Given the description of an element on the screen output the (x, y) to click on. 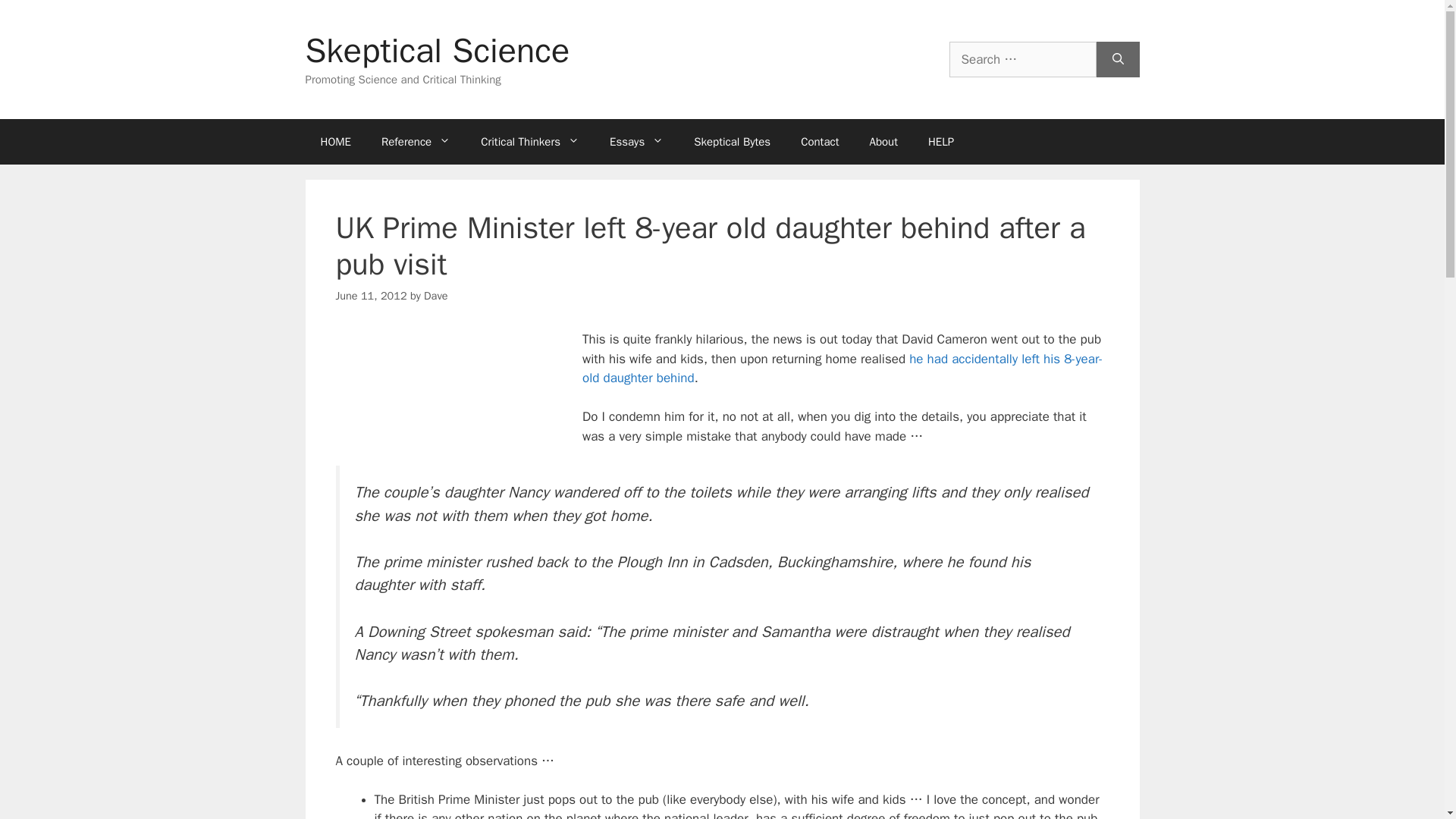
Essays (636, 140)
View all posts by Dave (434, 295)
HOME (334, 140)
Contact (819, 140)
Skeptical Bytes (732, 140)
Skeptical Science (436, 50)
Dave (434, 295)
David and Samantha Cameron (448, 398)
About (882, 140)
HELP (940, 140)
